Given the description of an element on the screen output the (x, y) to click on. 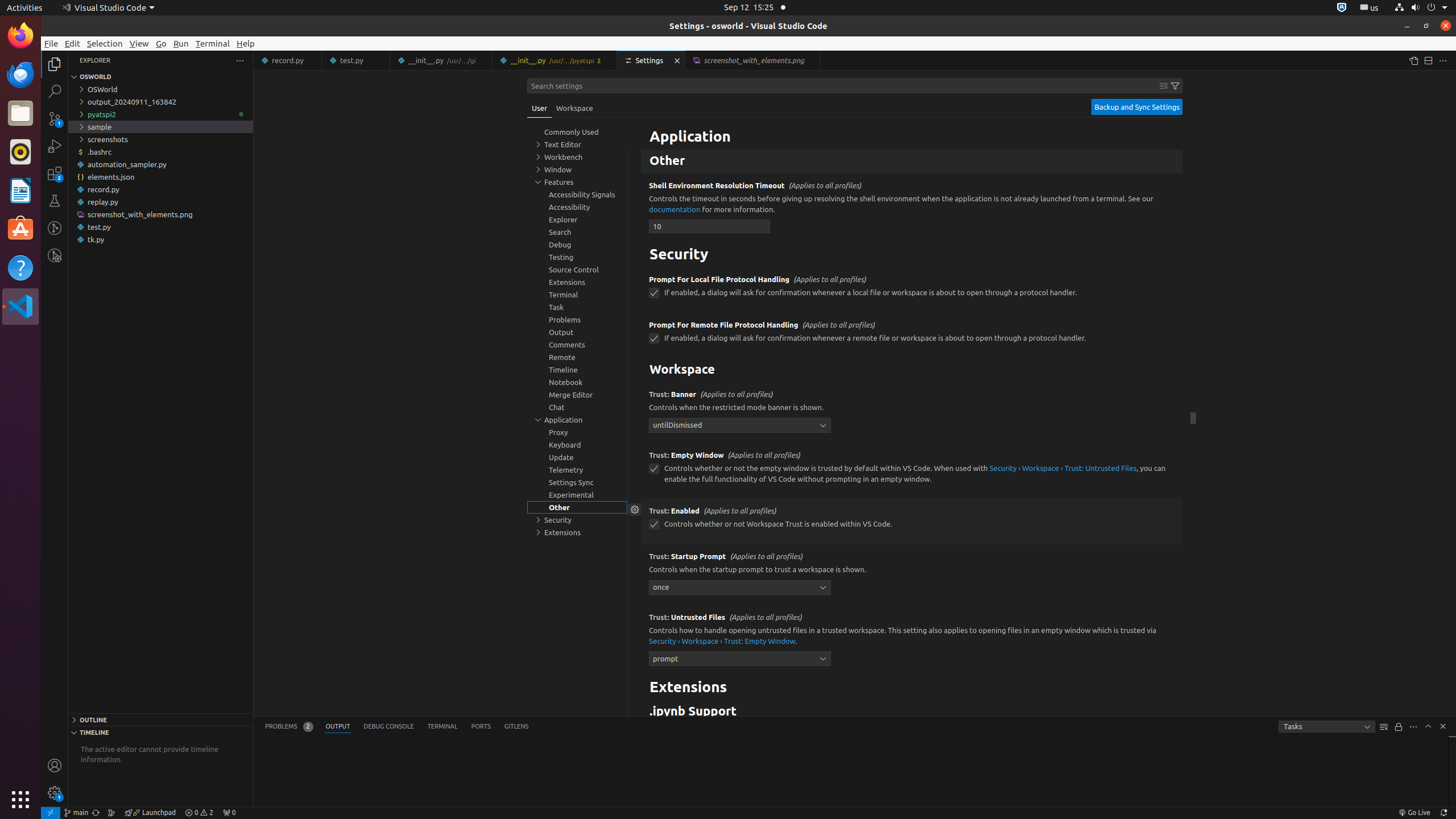
View Element type: push-button (139, 43)
Maximize Panel Size Element type: check-box (1427, 726)
__init__.py Element type: page-tab (554, 60)
